Given the description of an element on the screen output the (x, y) to click on. 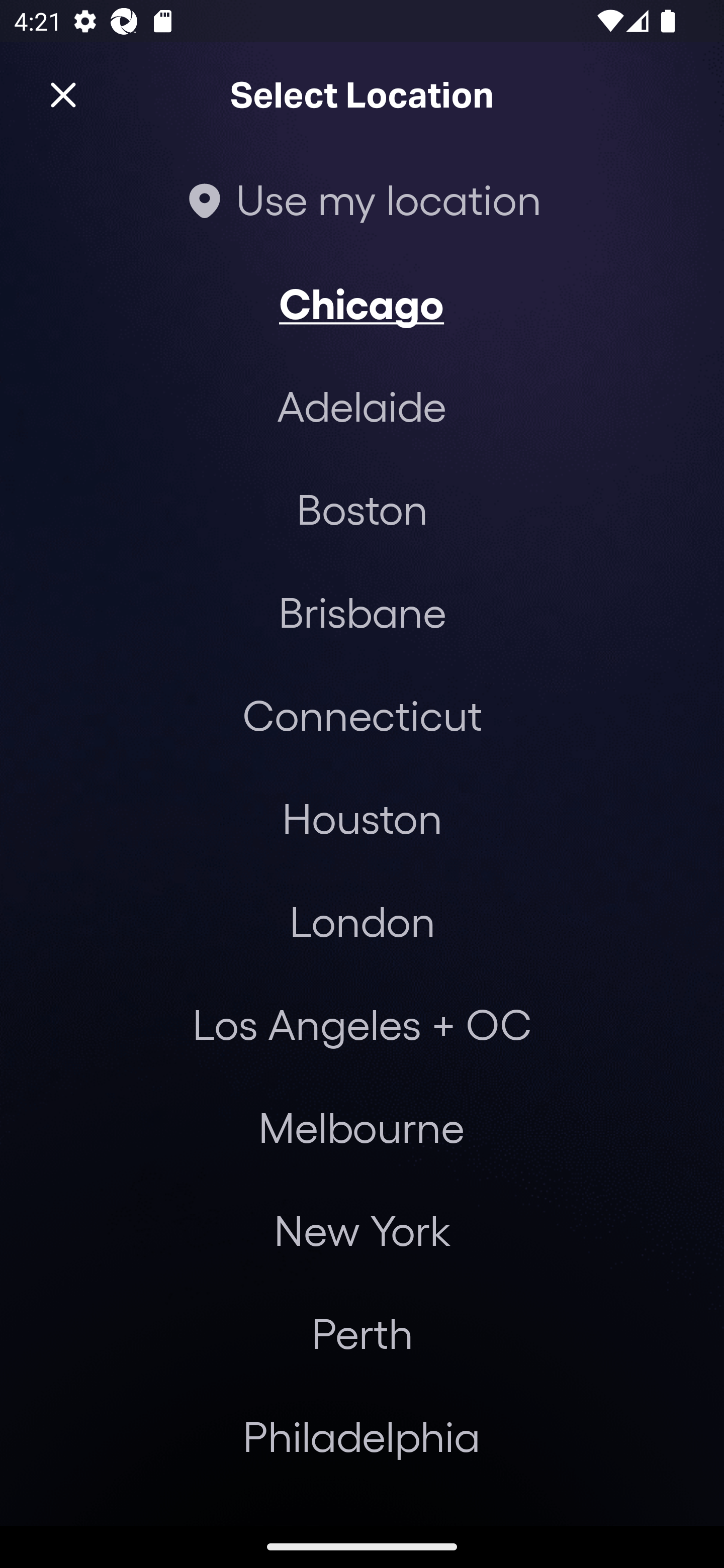
Close (62, 95)
   Use my location (362, 198)
Chicago (361, 302)
Adelaide (361, 405)
Boston (361, 508)
Brisbane (361, 611)
Connecticut (361, 714)
Houston (361, 817)
London (361, 920)
Los Angeles + OC (361, 1023)
Melbourne (361, 1127)
New York (361, 1230)
Perth (361, 1332)
Philadelphia (361, 1436)
